Given the description of an element on the screen output the (x, y) to click on. 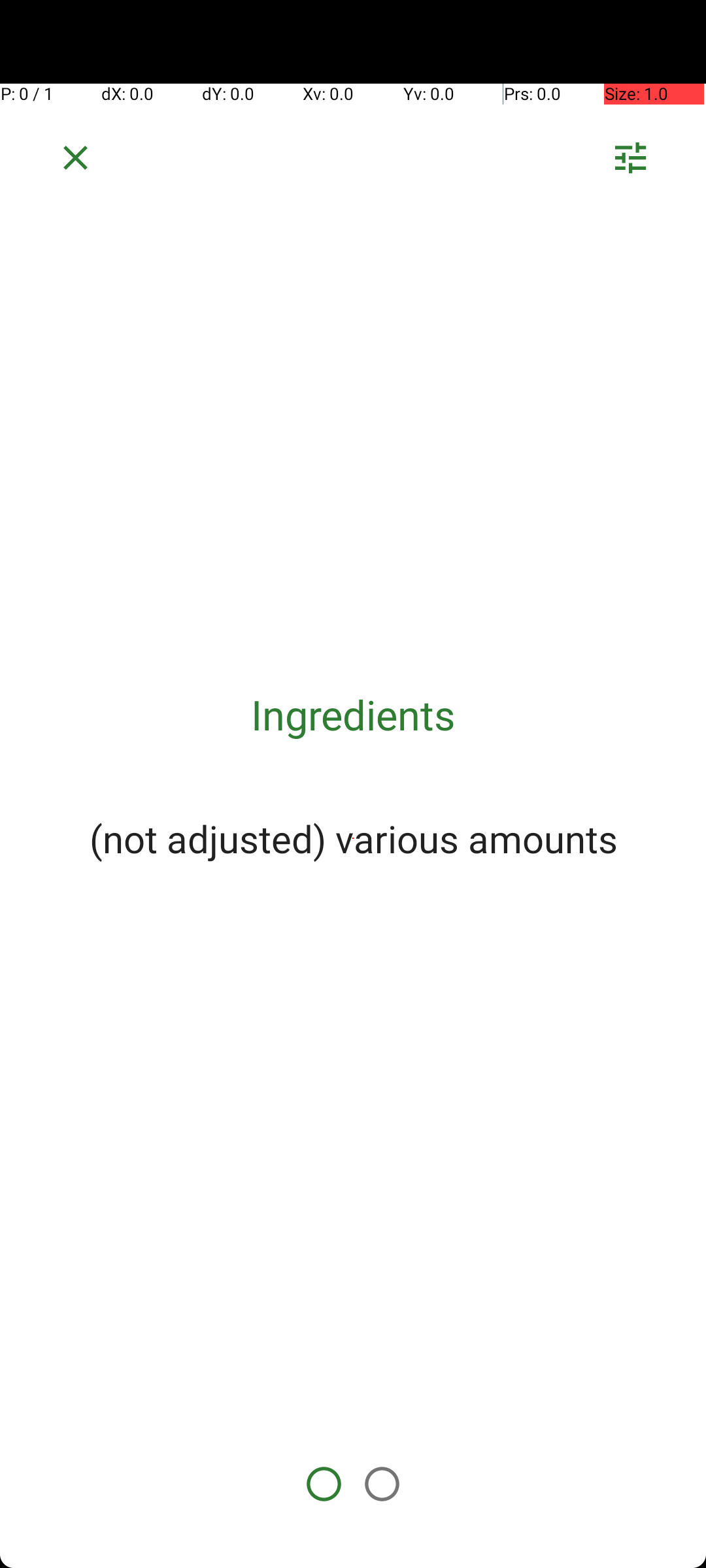
(not adjusted) various amounts Element type: android.widget.TextView (352, 838)
